Given the description of an element on the screen output the (x, y) to click on. 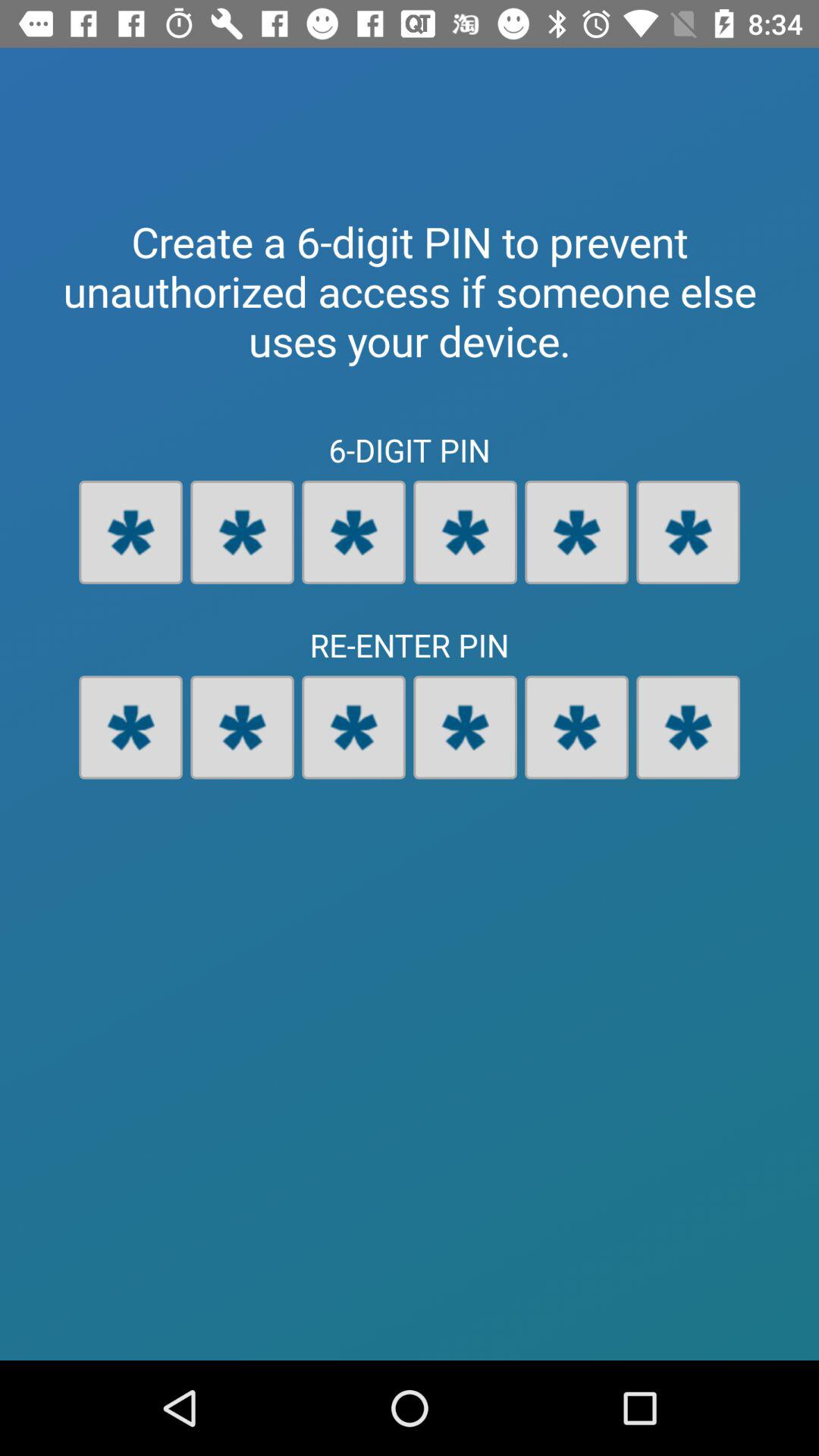
select the fifth text box which is below the 6digit pin (576, 531)
select the 3rd star which is below reenter pin on the page (353, 726)
select the fourth box from the 6digit pin (464, 531)
select the 4th star icon below the text reenter pin (464, 726)
